Given the description of an element on the screen output the (x, y) to click on. 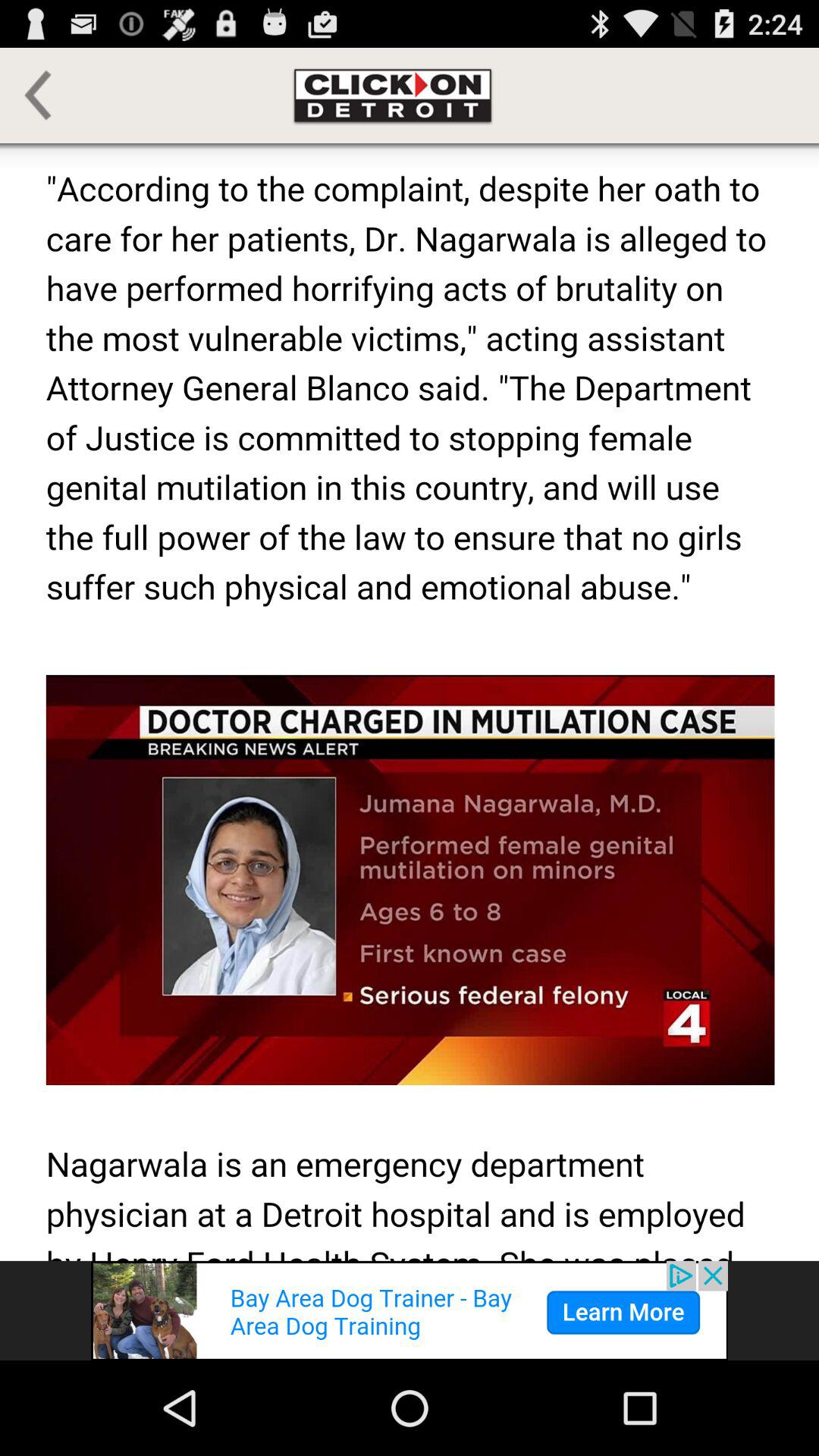
advertisement (409, 1310)
